Given the description of an element on the screen output the (x, y) to click on. 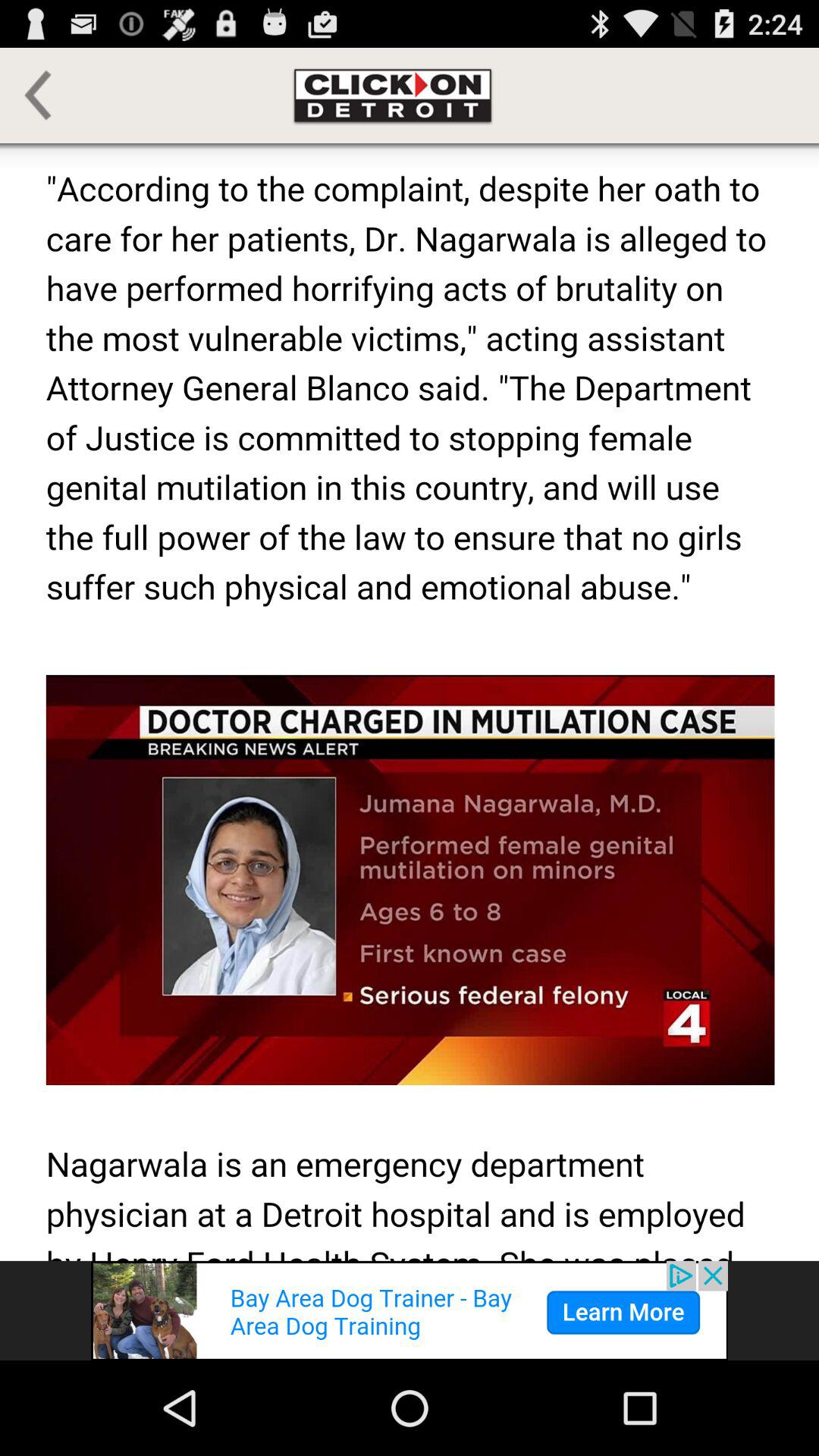
advertisement (409, 1310)
